Given the description of an element on the screen output the (x, y) to click on. 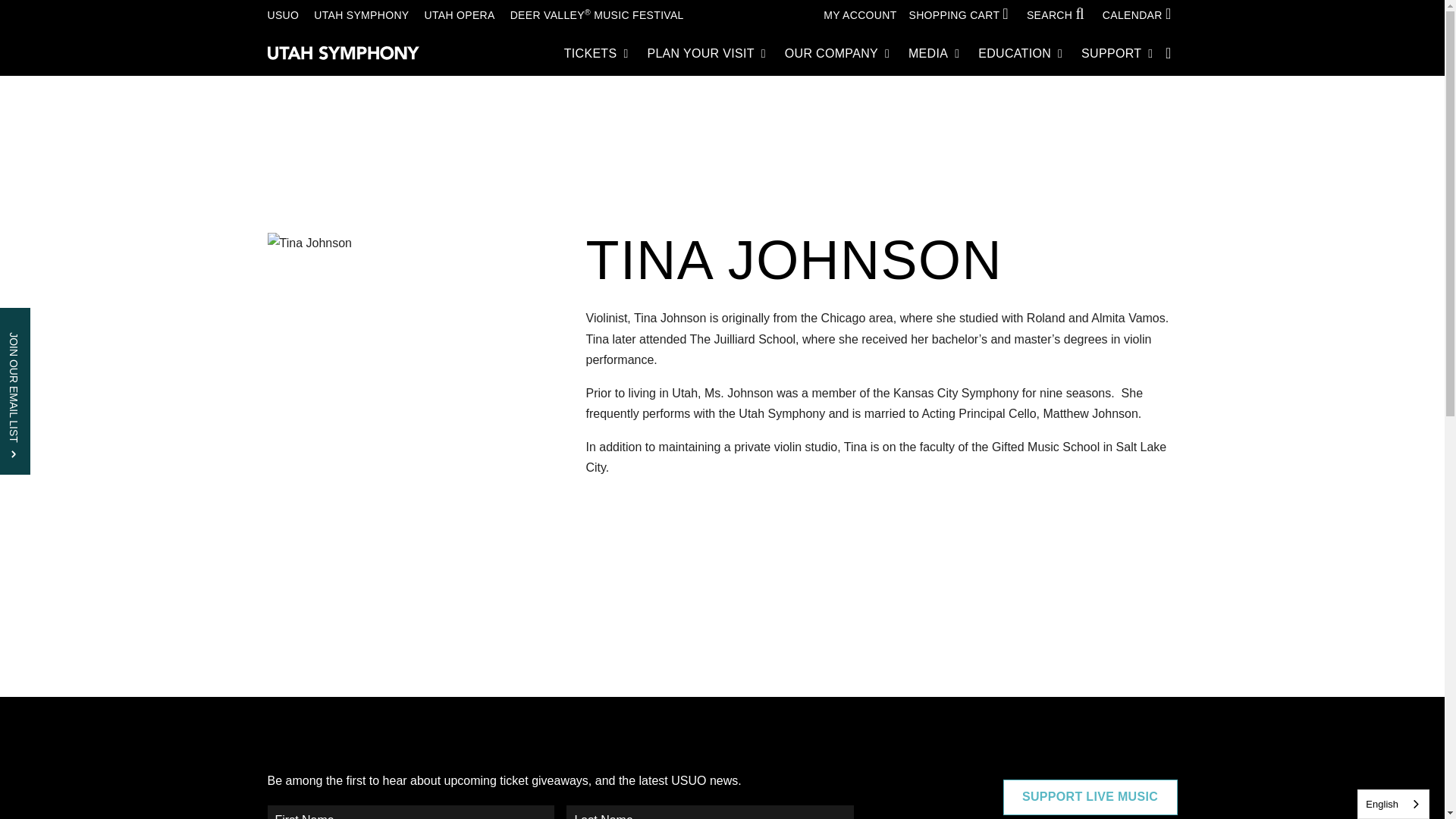
MY ACCOUNT (860, 15)
SEARCH (1058, 15)
SHOPPING CART (961, 15)
UTAH OPERA (459, 15)
TICKETS (596, 52)
CALENDAR (1139, 15)
USUO (282, 15)
UTAH SYMPHONY (361, 15)
PLAN YOUR VISIT (705, 52)
MEDIA (933, 52)
